Given the description of an element on the screen output the (x, y) to click on. 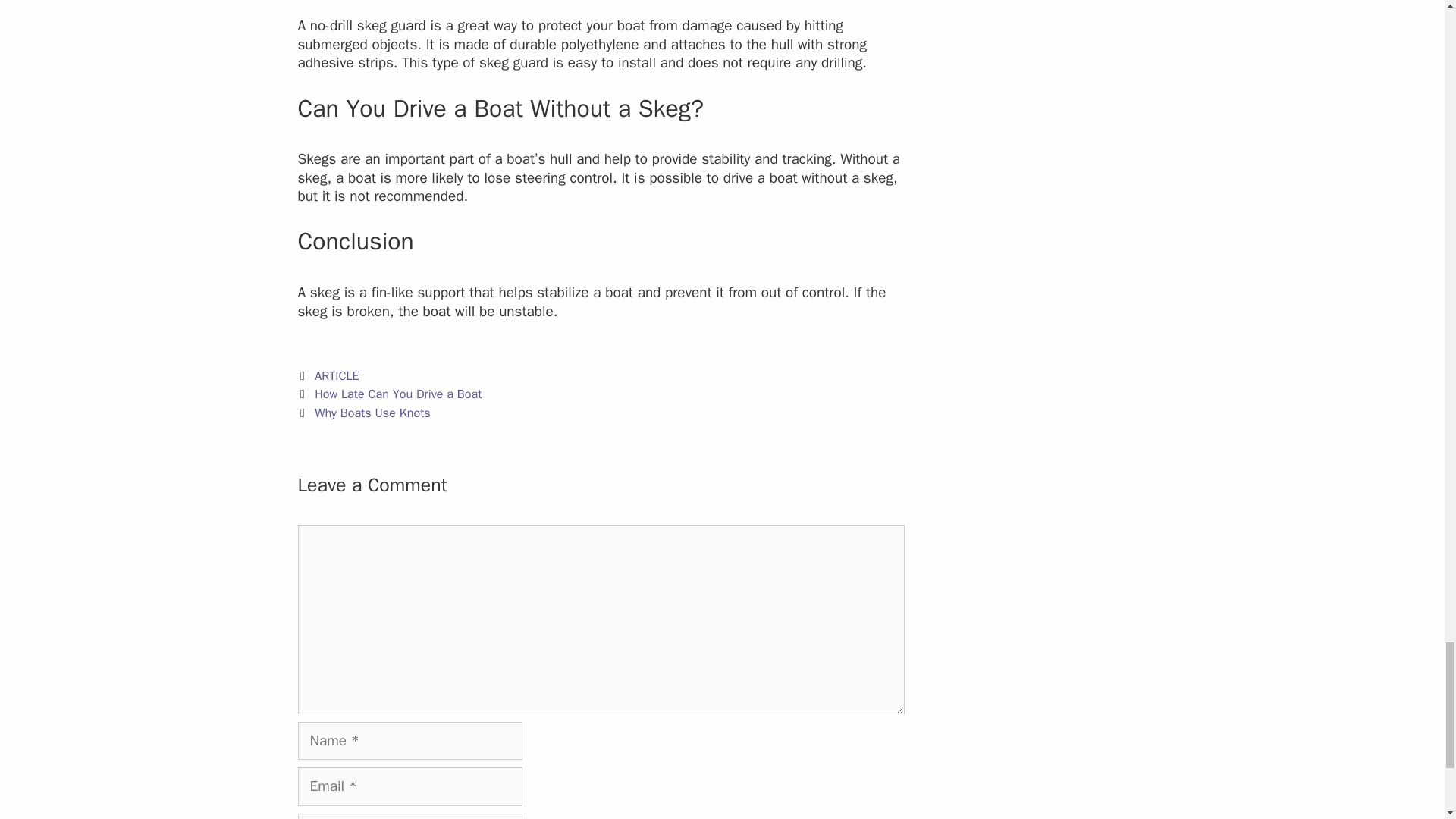
Next (363, 412)
ARTICLE (336, 375)
Previous (389, 393)
Why Boats Use Knots (372, 412)
How Late Can You Drive a Boat (397, 393)
